Given the description of an element on the screen output the (x, y) to click on. 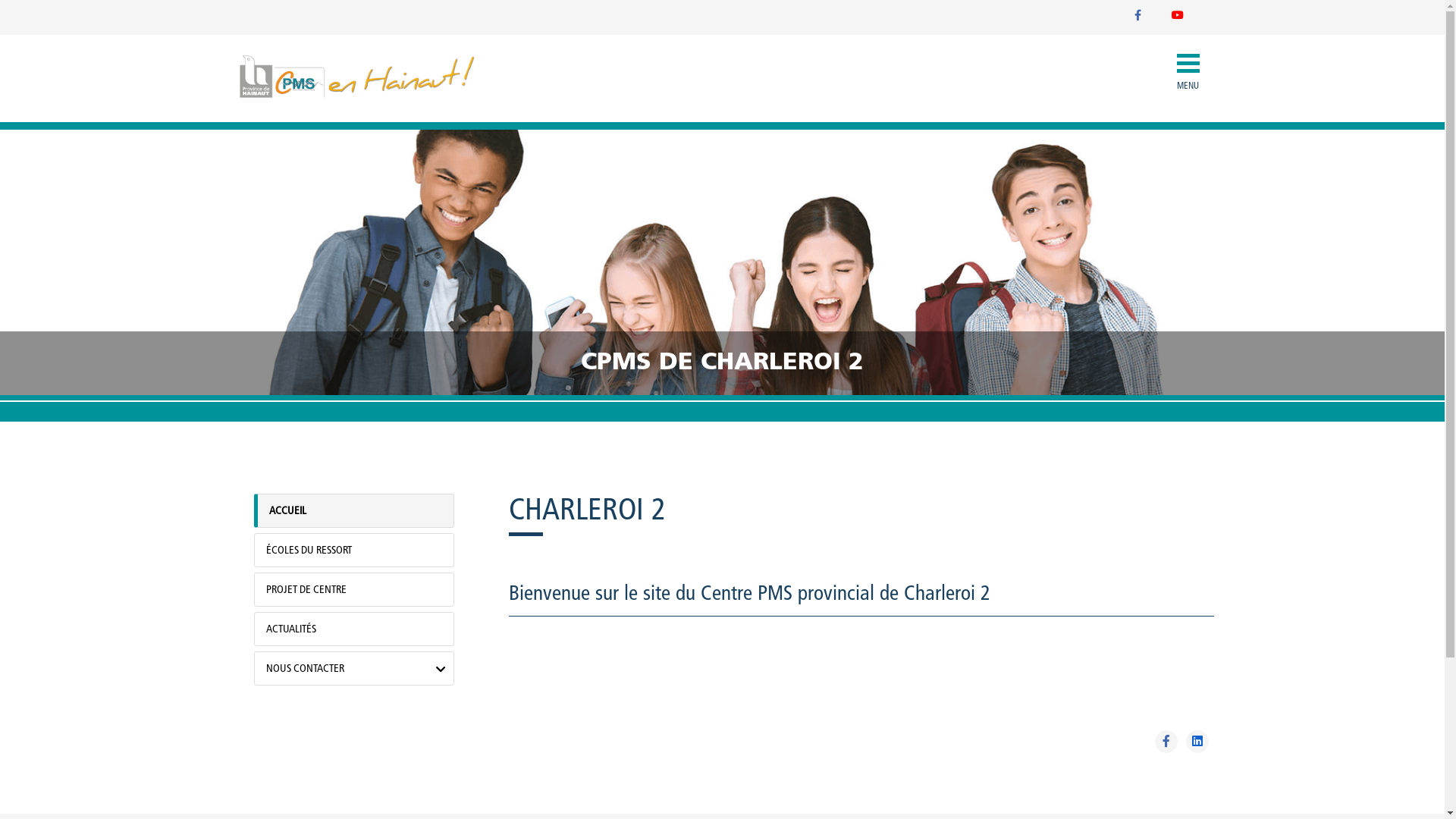
NOUS CONTACTER Element type: text (358, 668)
Page Facebook des CPMS en Hainaut Element type: hover (1137, 16)
Page Youtube des CPMS en Hainaut Element type: hover (1176, 16)
Menu Element type: text (17, 404)
ACCUEIL Element type: text (360, 510)
PROJET DE CENTRE Element type: text (358, 589)
